Given the description of an element on the screen output the (x, y) to click on. 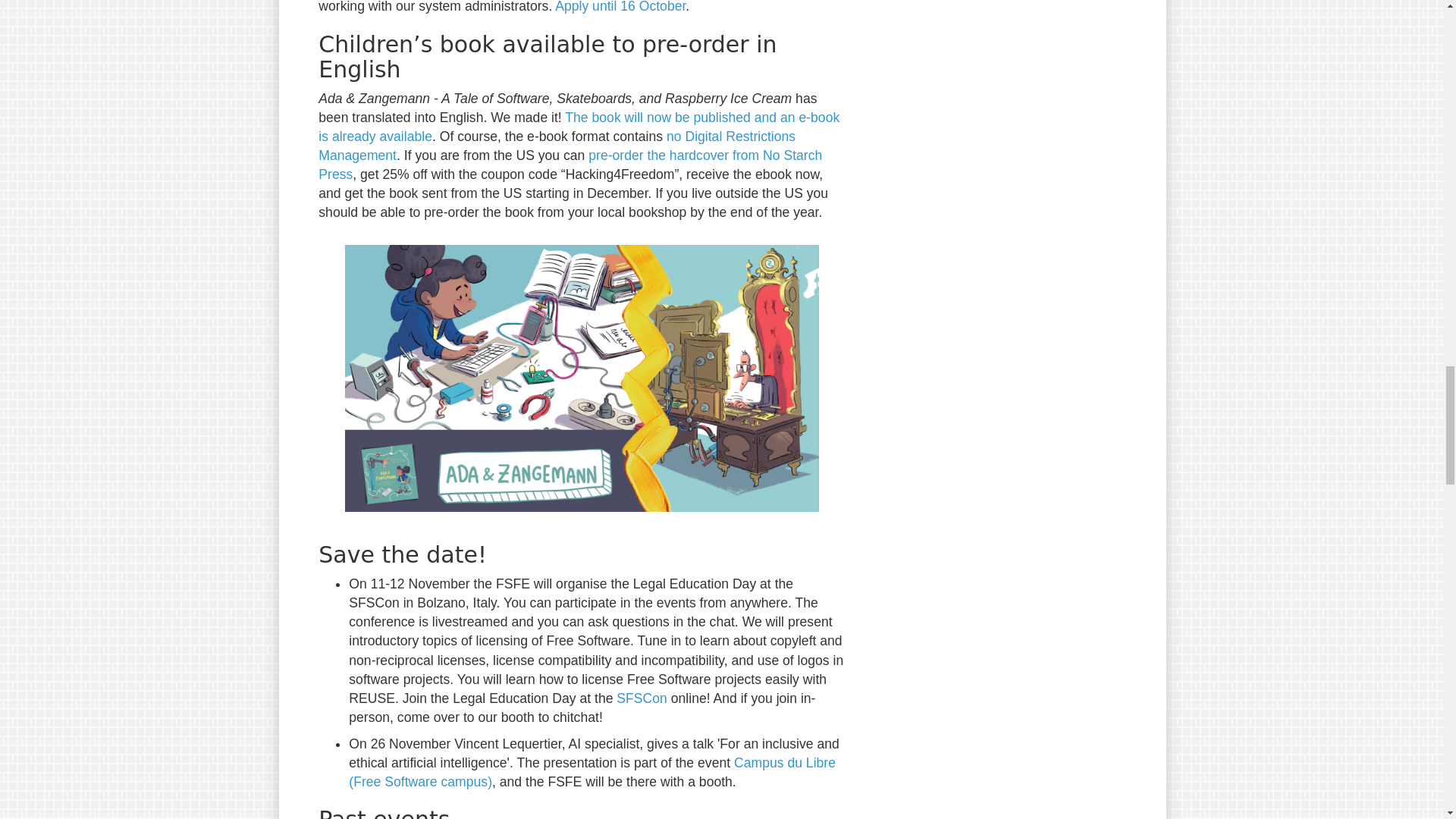
SFSCon (640, 698)
pre-order the hardcover from No Starch Press (570, 164)
no Digital Restrictions Management (556, 145)
Apply until 16 October (619, 6)
